Given the description of an element on the screen output the (x, y) to click on. 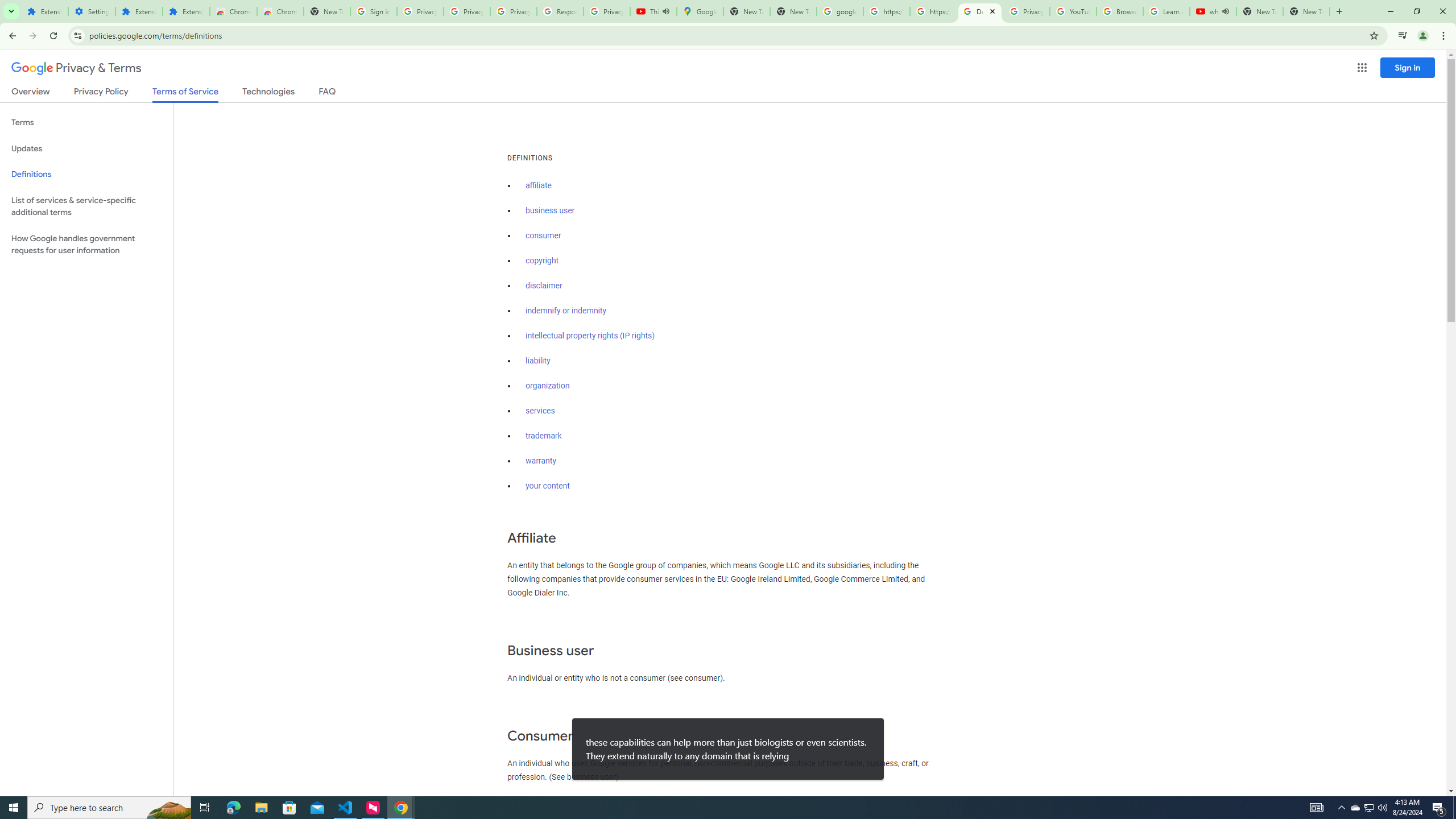
Extensions (186, 11)
business user (550, 210)
consumer (543, 235)
List of services & service-specific additional terms (86, 206)
New Tab (326, 11)
How Google handles government requests for user information (86, 244)
Chrome Web Store (233, 11)
trademark (543, 435)
